Given the description of an element on the screen output the (x, y) to click on. 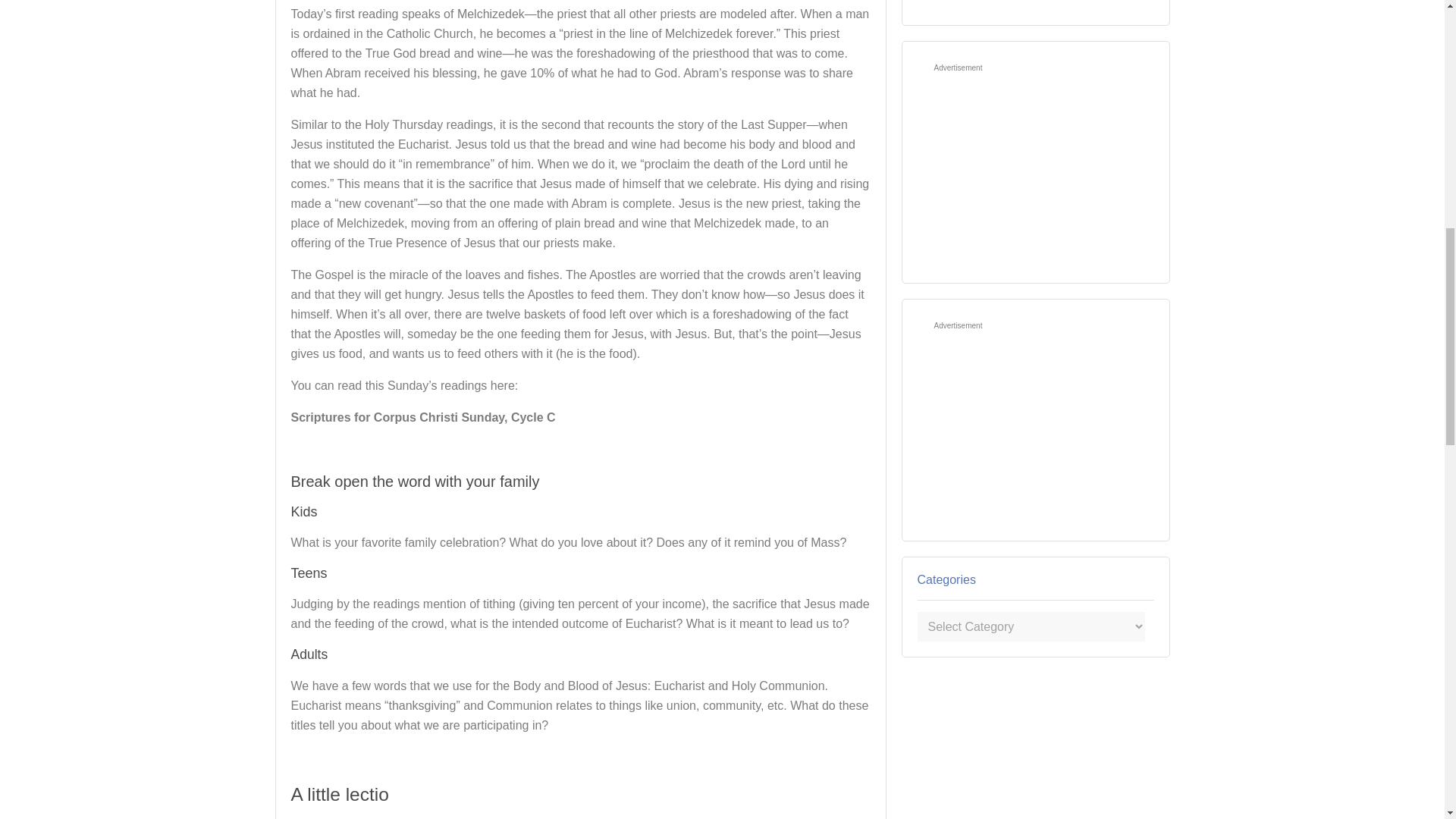
Scriptures for Corpus Christi Sunday, Cycle C (423, 417)
